Given the description of an element on the screen output the (x, y) to click on. 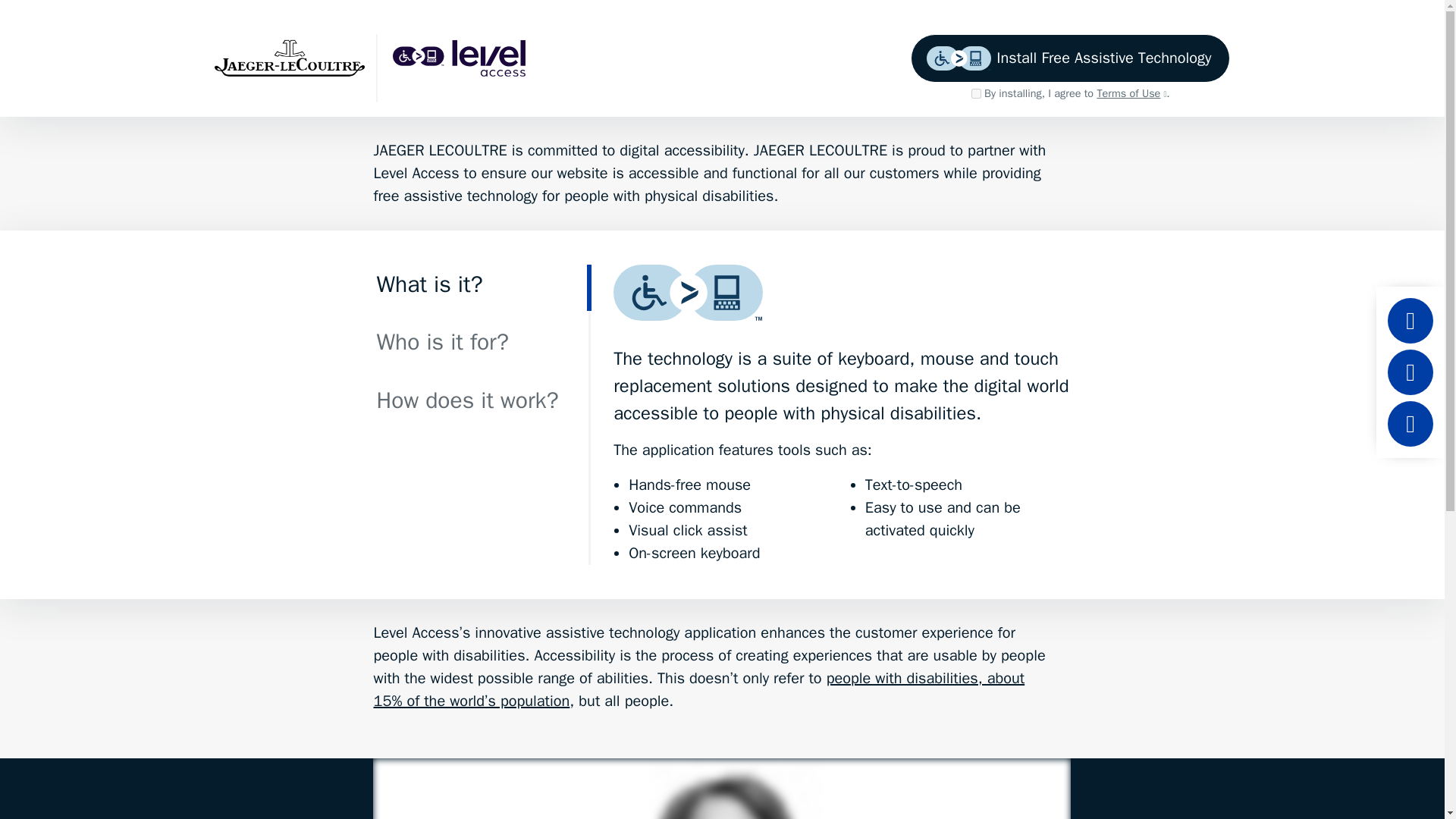
Follow Level Access on LinkedIn (1409, 320)
How does it work? (481, 403)
Like Level Access on Facebook (1409, 371)
on (976, 93)
Follow Level Access on X (1409, 423)
Install Free Assistive Technology (1070, 58)
What is it? (481, 288)
Level Access Solution for people at JAEGER LECOULTRE (468, 58)
Terms of Use (1131, 92)
Who is it for? (481, 345)
